Given the description of an element on the screen output the (x, y) to click on. 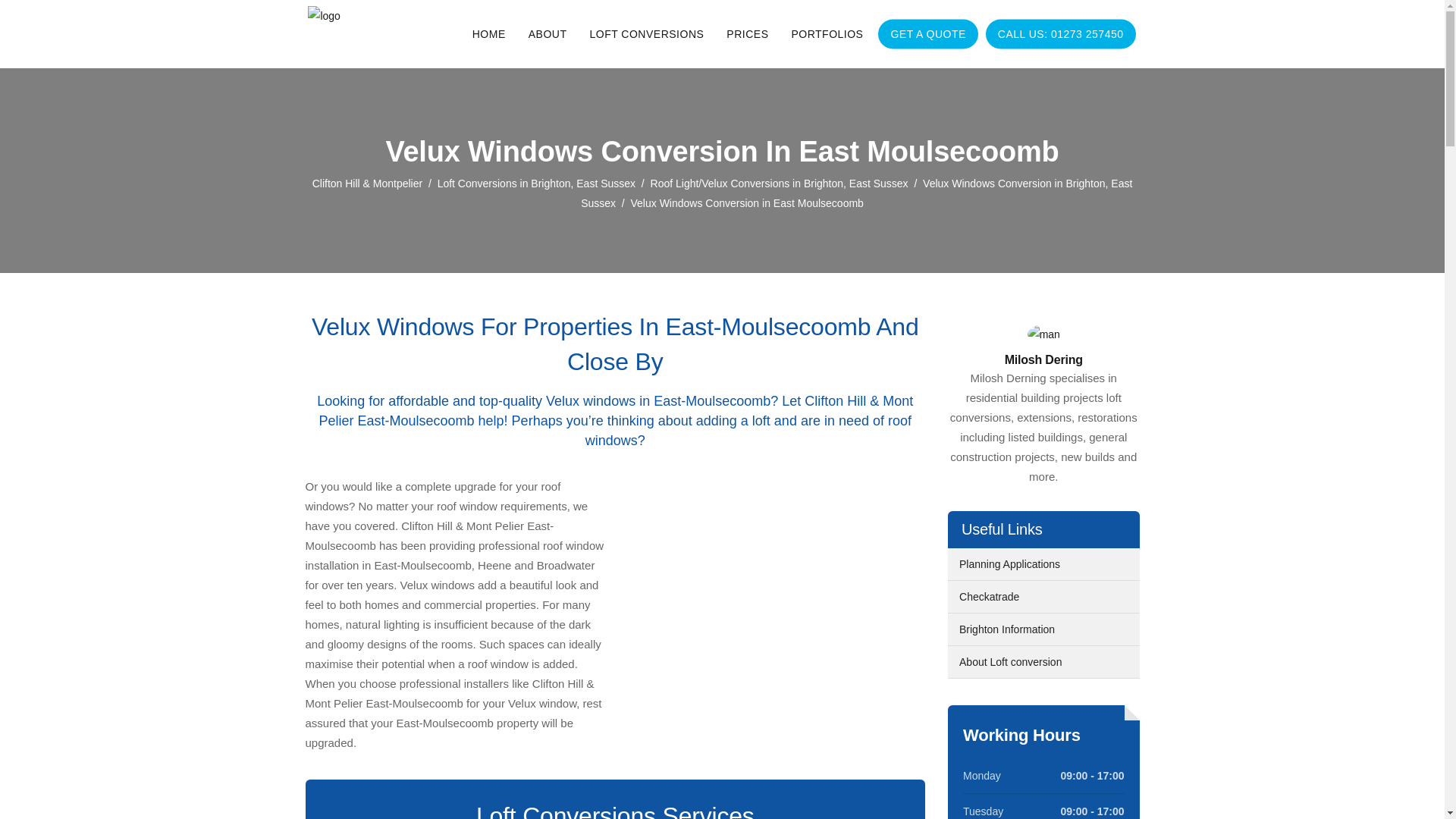
PORTFOLIOS (826, 33)
PRICES (746, 33)
LOFT CONVERSIONS (646, 33)
ABOUT (547, 33)
Velux Windows Conversion in Brighton, East Sussex (856, 193)
Loft Conversions in Brighton, East Sussex (536, 183)
GET A QUOTE (928, 33)
CALL US: 01273 257450 (1060, 33)
